Given the description of an element on the screen output the (x, y) to click on. 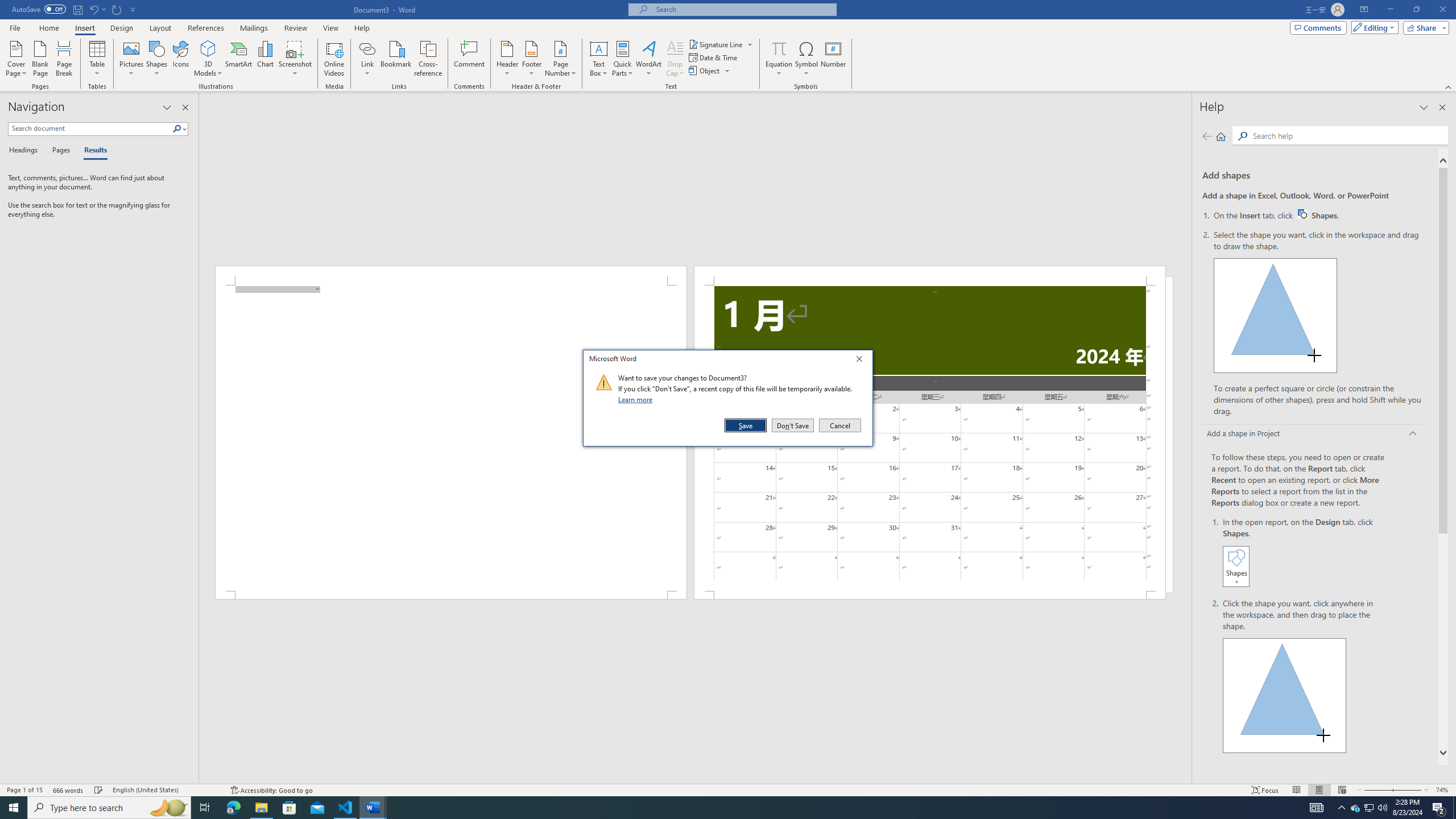
Learn more (636, 399)
Search highlights icon opens search home window (167, 807)
Spelling and Grammar Check Checking (98, 790)
Action Center, 2 new notifications (1439, 807)
Previous page (1206, 136)
Object... (705, 69)
Add a shape in Project (1312, 434)
